Given the description of an element on the screen output the (x, y) to click on. 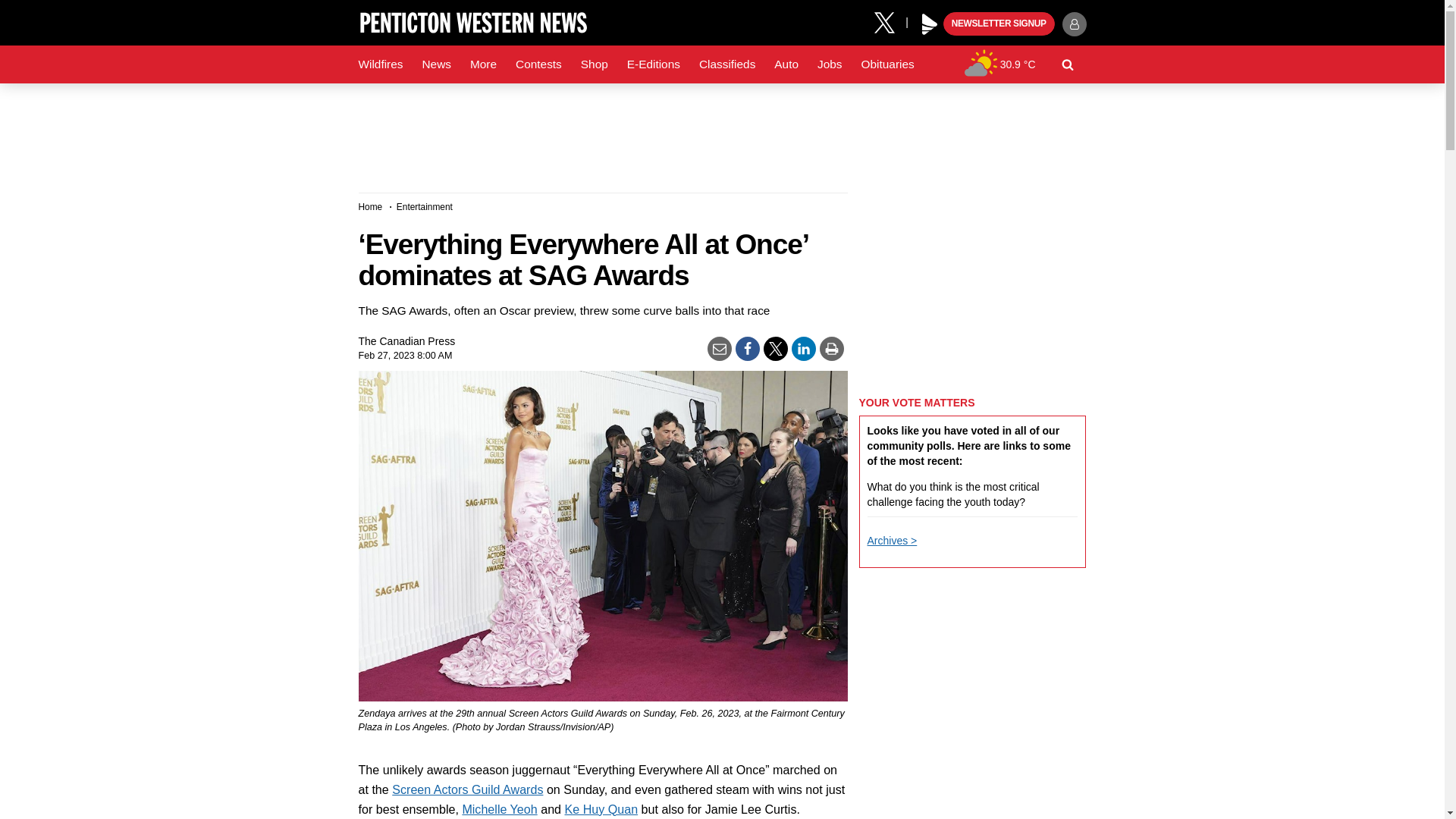
News (435, 64)
Play (929, 24)
Black Press Media (929, 24)
X (889, 21)
Wildfires (380, 64)
NEWSLETTER SIGNUP (998, 24)
